Given the description of an element on the screen output the (x, y) to click on. 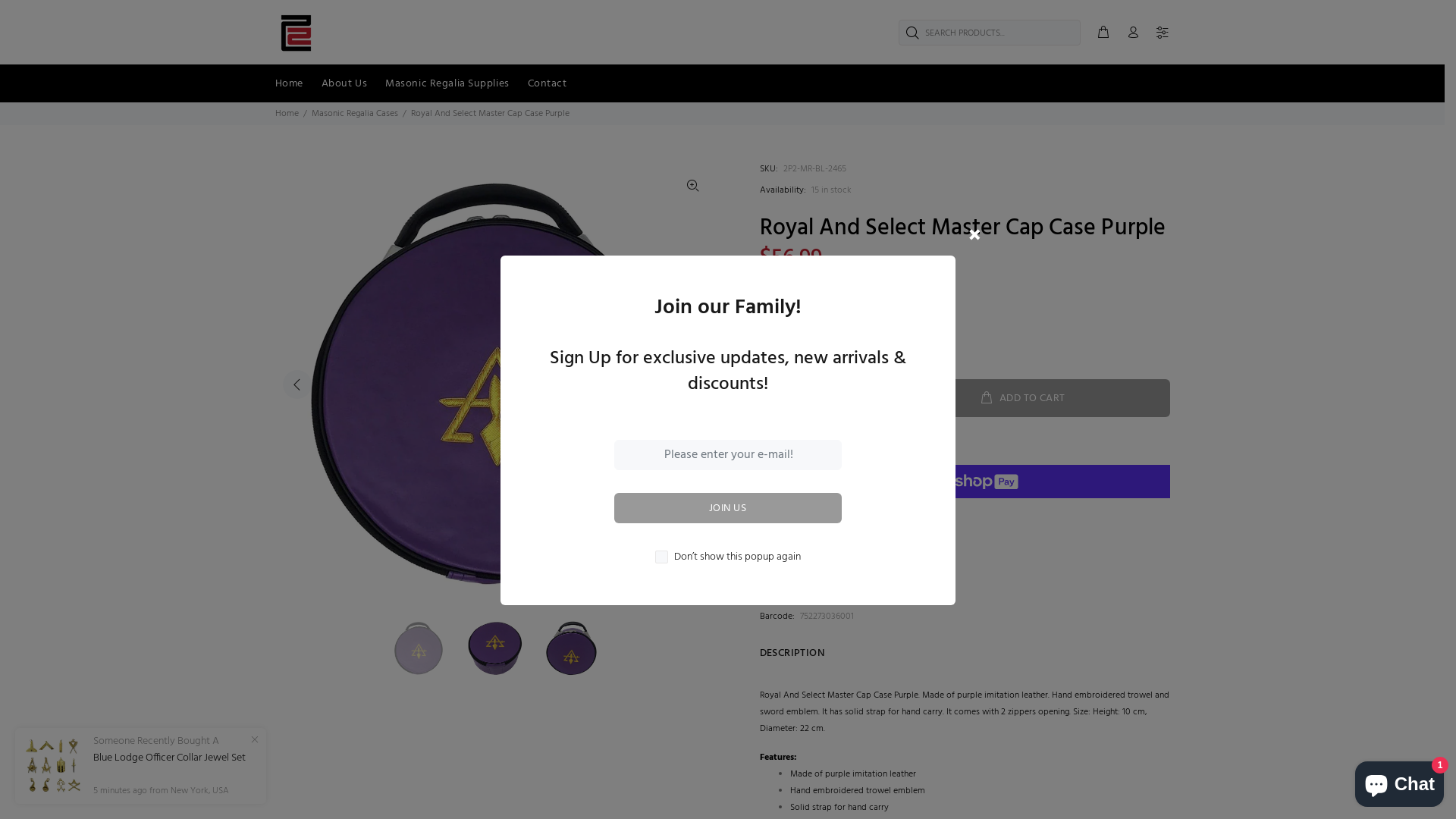
ADD TO CART Element type: text (1022, 398)
Next Element type: text (691, 384)
Blue Lodge Officer Collar Jewel Set Element type: text (169, 757)
Home Element type: text (286, 113)
Previous Element type: text (296, 384)
Masonic Regalia Supplies Element type: text (446, 83)
Ask about this product Element type: text (814, 339)
Cap Cases Element type: text (838, 594)
Shopify online store chat Element type: hover (1399, 780)
ADD TO COMPARE Element type: text (907, 531)
2Plus2 Element type: text (808, 573)
About Us Element type: text (344, 83)
ADD TO WISHLIST Element type: text (803, 531)
Shipping Element type: text (778, 276)
Masonic Regalia Cases Element type: text (353, 113)
JOIN US Element type: text (727, 507)
Home Element type: text (288, 83)
Contact Element type: text (542, 83)
